Given the description of an element on the screen output the (x, y) to click on. 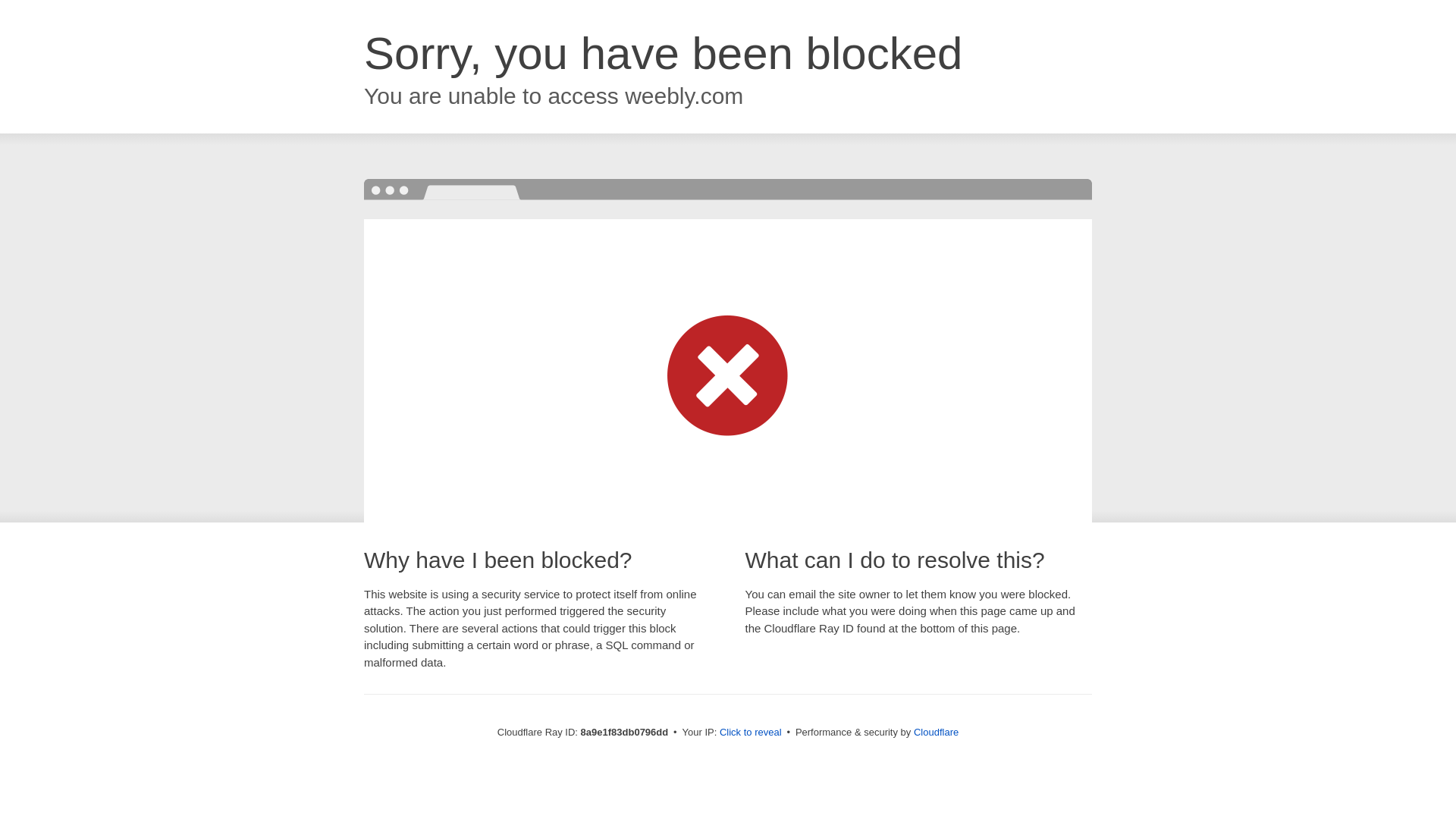
Click to reveal (750, 732)
Cloudflare (936, 731)
